Given the description of an element on the screen output the (x, y) to click on. 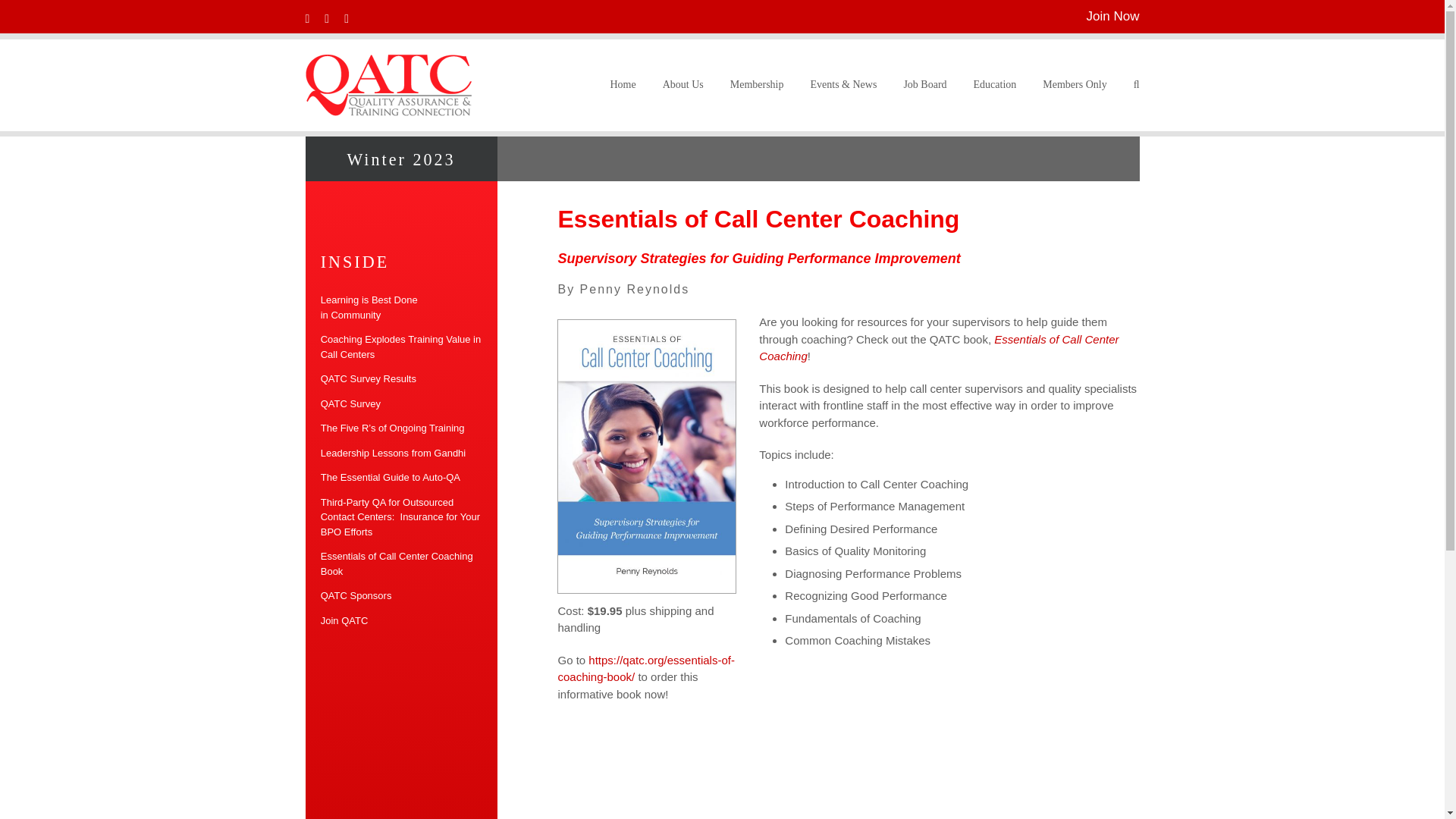
Join Now (1113, 16)
